Given the description of an element on the screen output the (x, y) to click on. 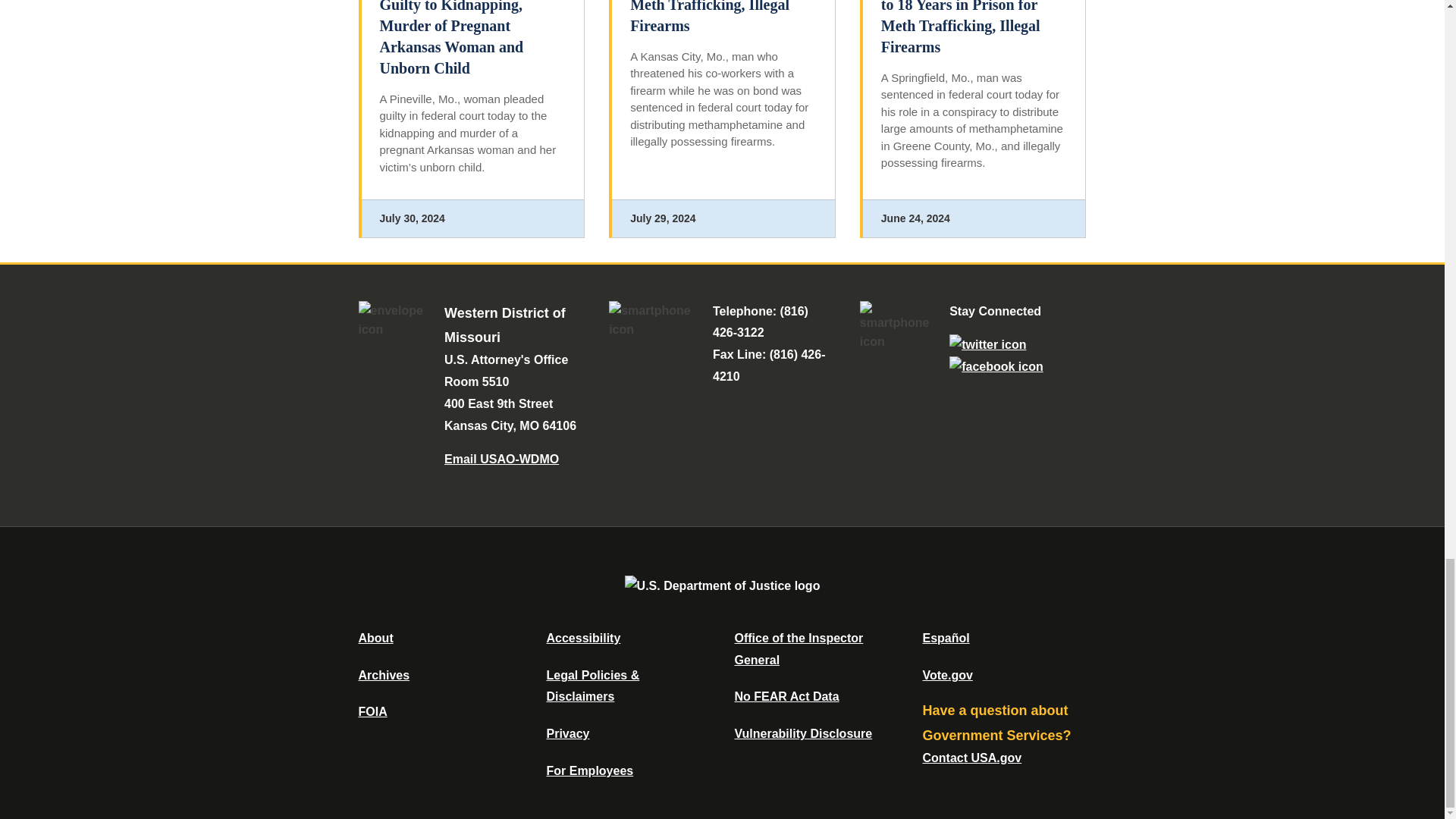
Data Posted Pursuant To The No Fear Act (785, 696)
Legal Policies and Disclaimers (592, 686)
Office of Information Policy (372, 711)
About DOJ (375, 637)
Accessibility Statement (583, 637)
Department of Justice Archive (383, 675)
For Employees (589, 770)
